Given the description of an element on the screen output the (x, y) to click on. 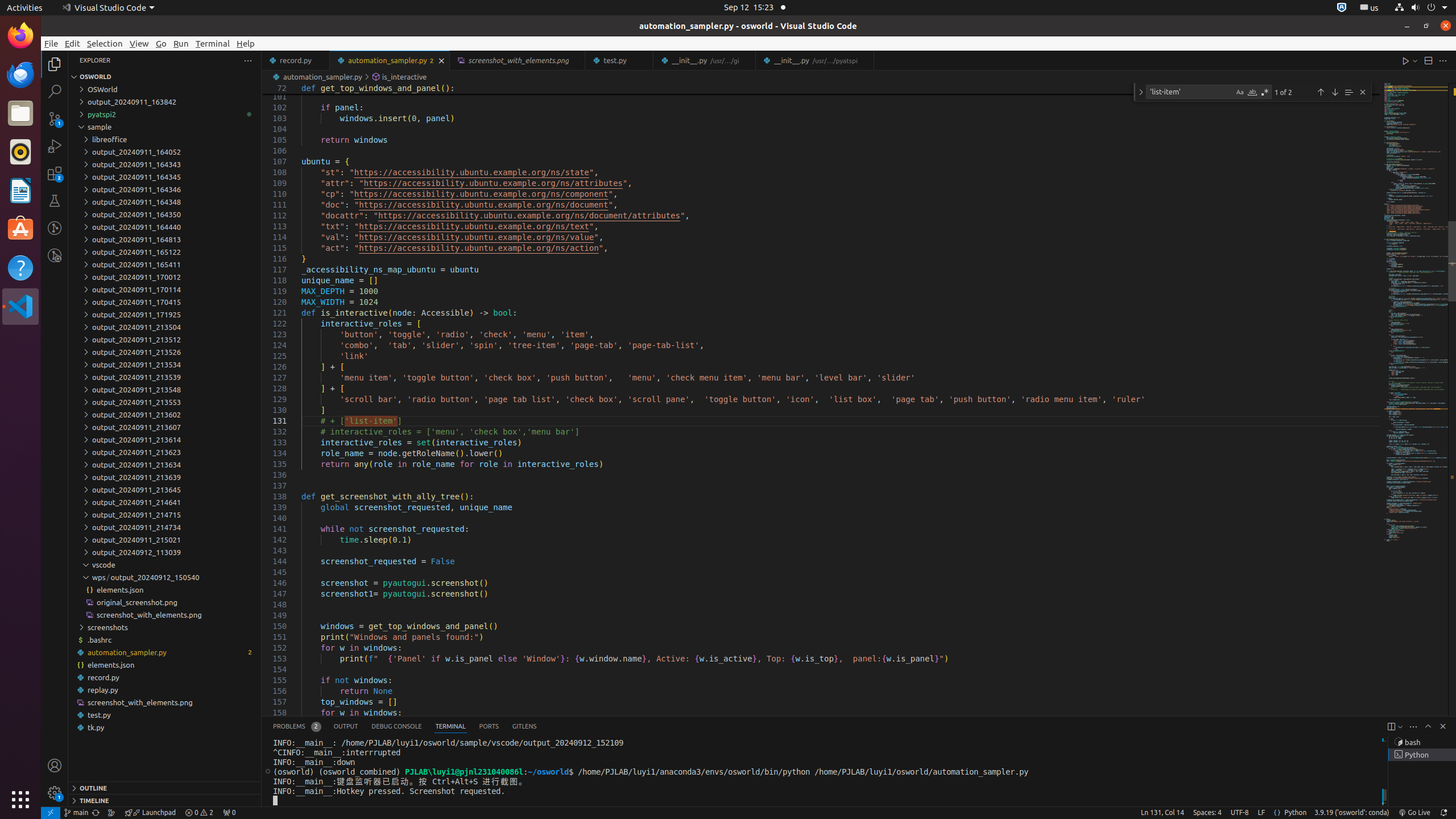
Manage - New Code update available. Element type: push-button (54, 792)
output_20240911_164350 Element type: tree-item (164, 214)
output_20240911_213534 Element type: tree-item (164, 364)
